Given the description of an element on the screen output the (x, y) to click on. 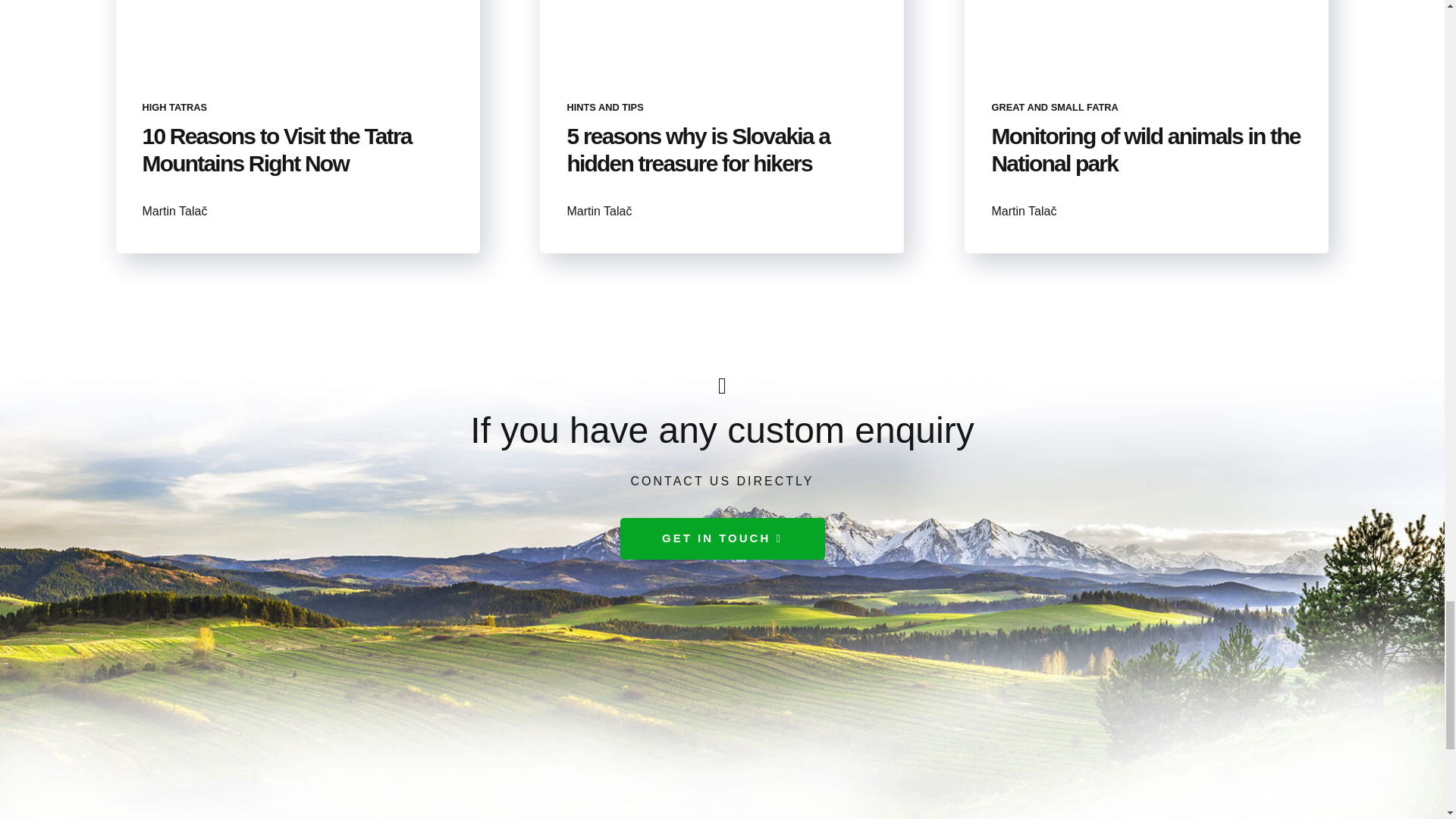
GET IN TOUCH (722, 538)
